Given the description of an element on the screen output the (x, y) to click on. 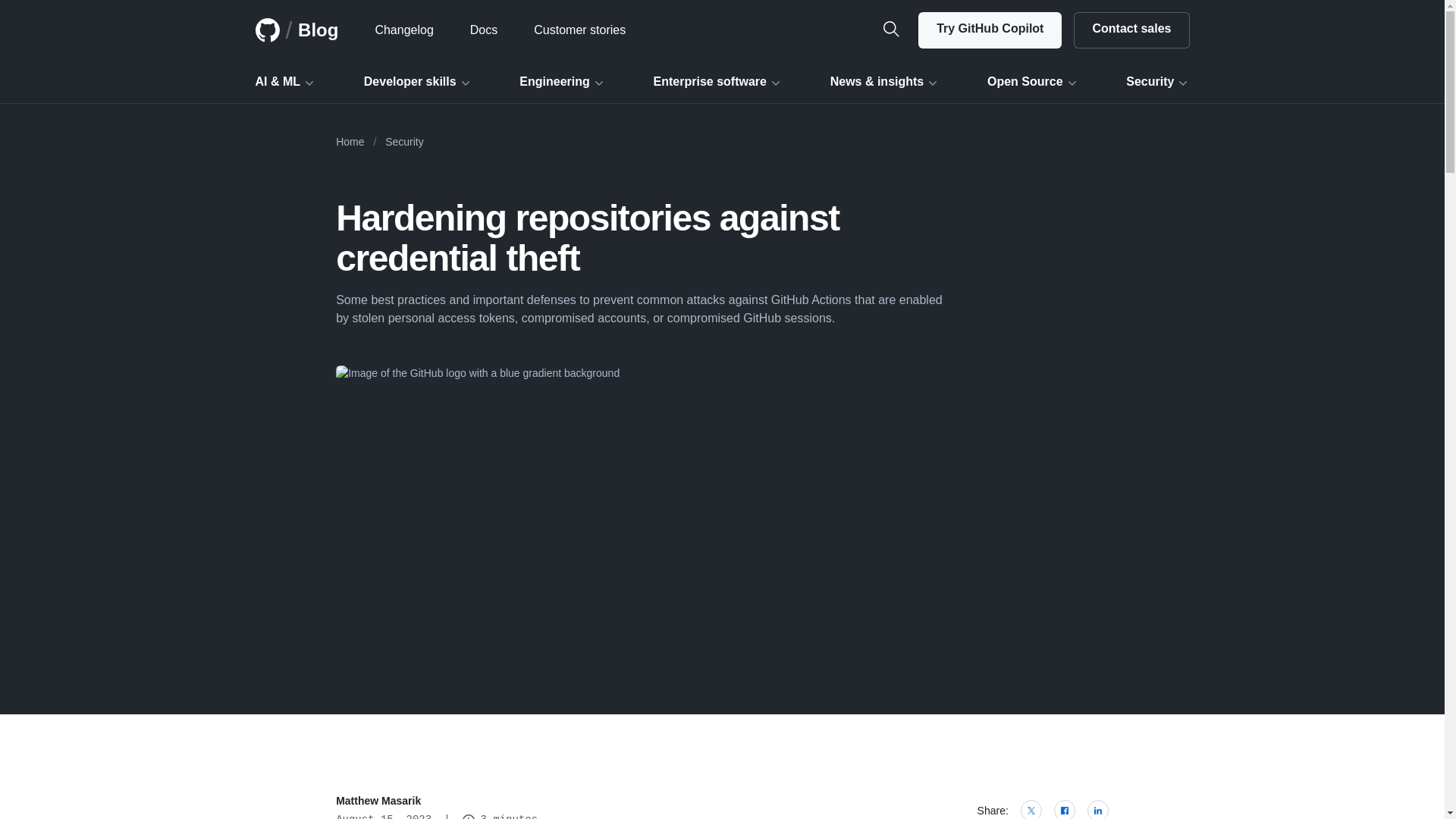
Blog (317, 30)
Customer stories (579, 30)
Contact sales (1131, 30)
Enterprise software (717, 81)
Changelog (403, 30)
Developer skills (417, 81)
Posts by Matthew Masarik (378, 800)
Try GitHub Copilot (989, 30)
Docs (483, 30)
Engineering (561, 81)
